Given the description of an element on the screen output the (x, y) to click on. 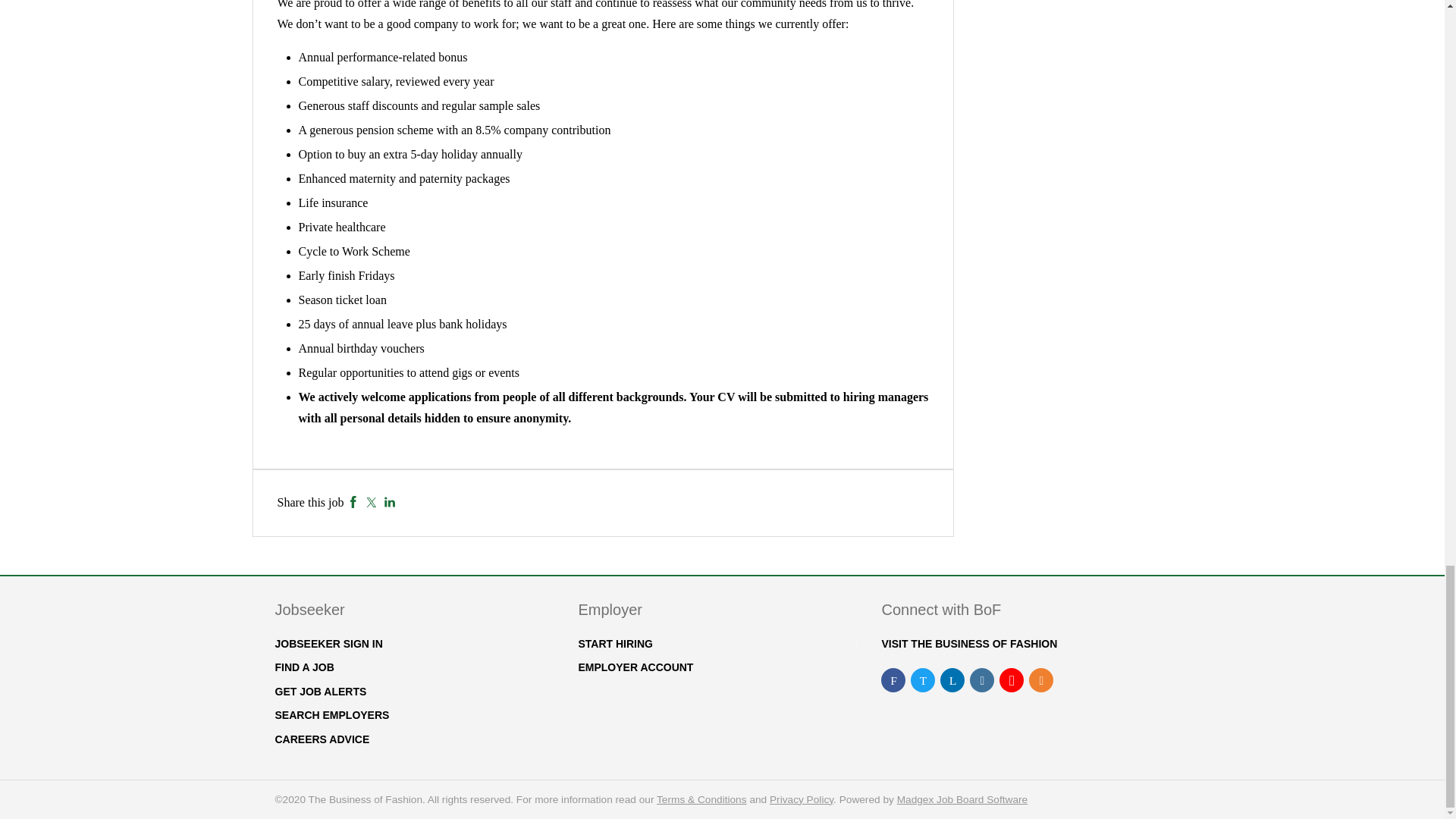
SEARCH EMPLOYERS (331, 715)
Facebook (353, 502)
GET JOB ALERTS (320, 691)
FIND A JOB (304, 666)
JOBSEEKER SIGN IN (328, 644)
LinkedIn (390, 502)
Twitter (371, 502)
